Given the description of an element on the screen output the (x, y) to click on. 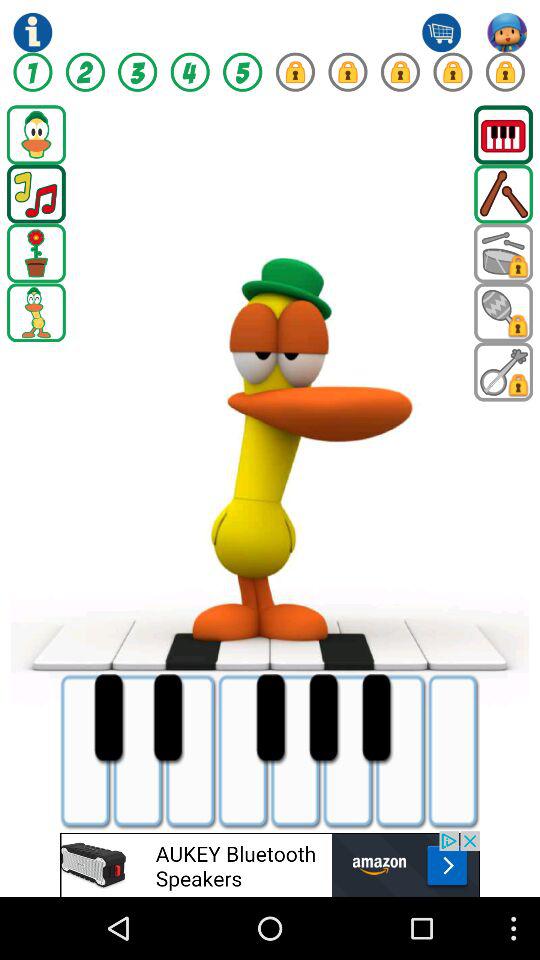
level select (242, 71)
